Given the description of an element on the screen output the (x, y) to click on. 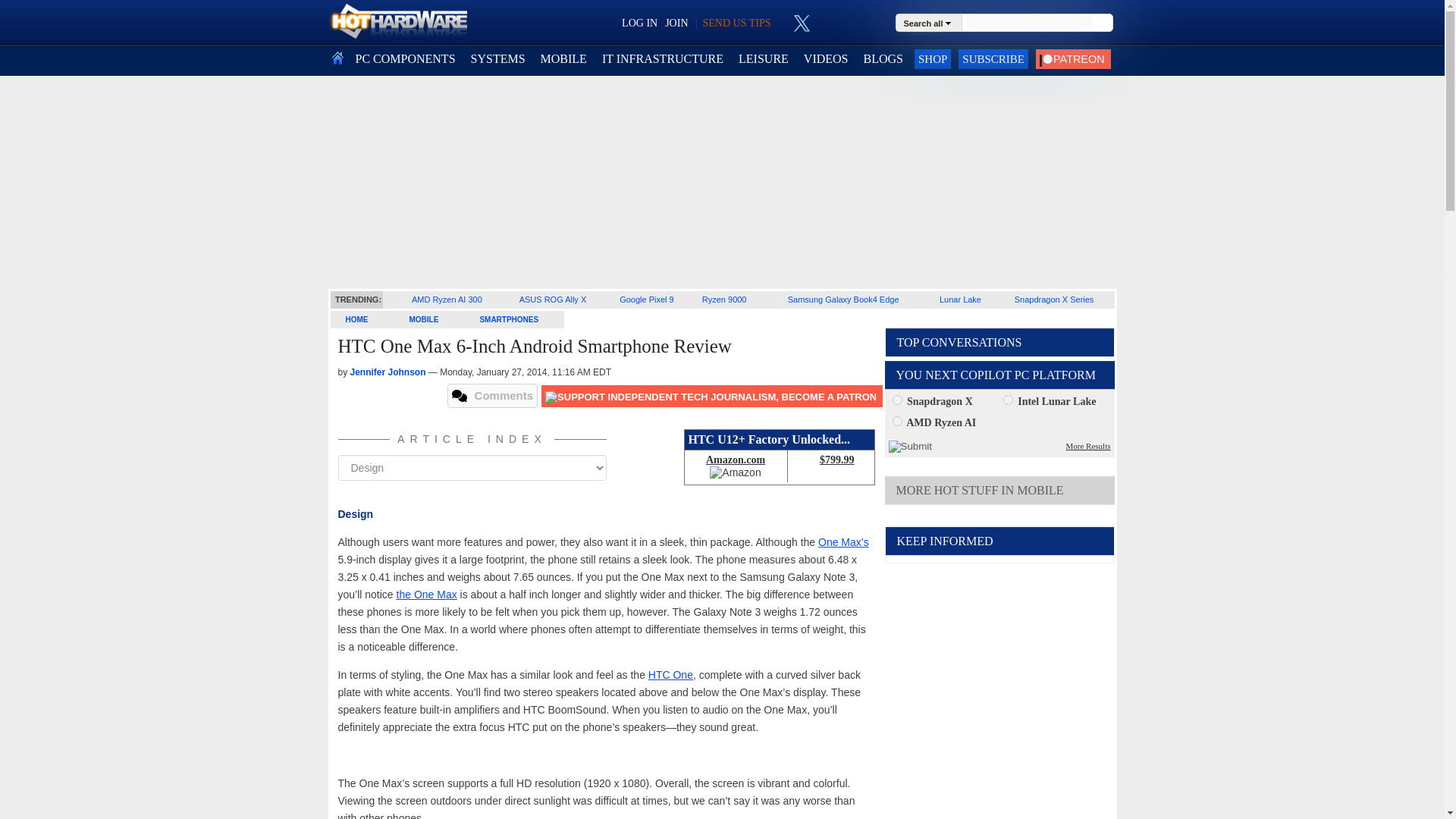
Go (1103, 22)
Search all (929, 22)
Blogs (883, 58)
Comments (492, 395)
SIGN OUT (39, 18)
759 (896, 420)
keyword (1028, 21)
JOIN (676, 22)
LOG IN (639, 22)
SEND US TIPS (735, 22)
